Given the description of an element on the screen output the (x, y) to click on. 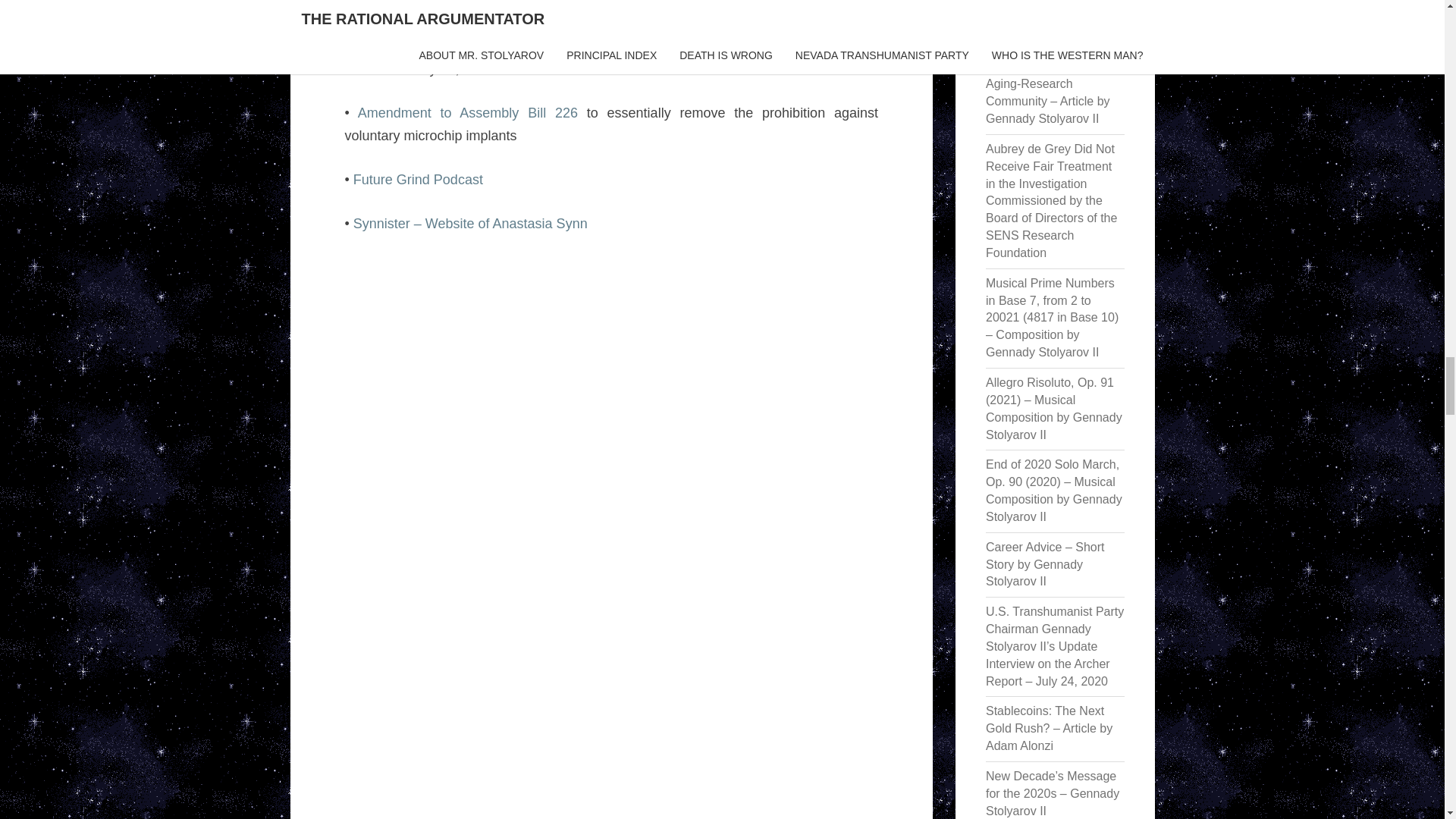
Future Grind Podcast (418, 179)
Assembly Bill 226, Second Reprint (464, 46)
Amendment to Assembly Bill 226 (468, 112)
A Word on Implanted NFC Tags (453, 4)
